Given the description of an element on the screen output the (x, y) to click on. 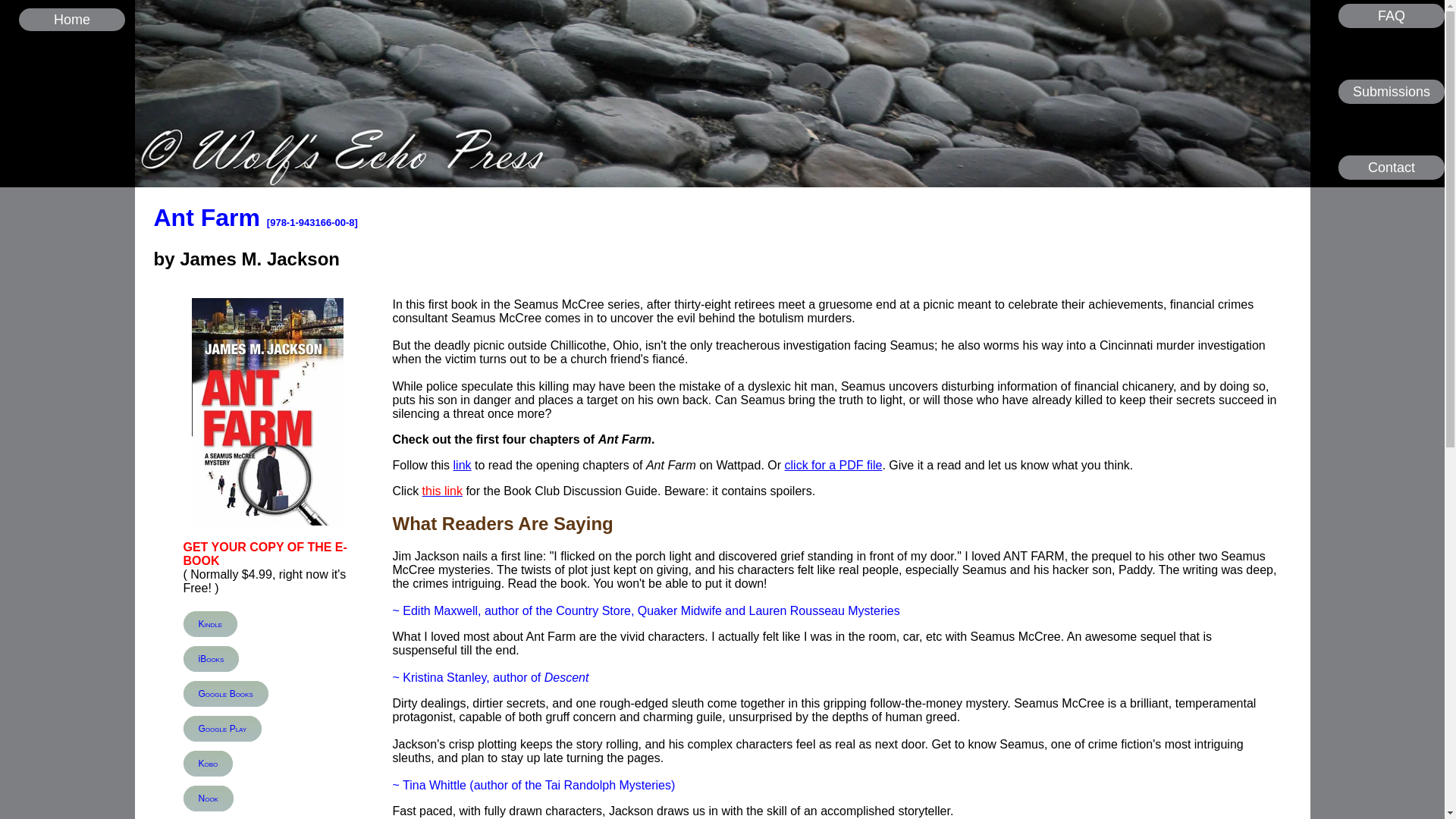
this link (442, 490)
iBooks (211, 658)
Google Play (222, 728)
Google Books (225, 693)
Nook (207, 798)
Kobo (207, 763)
Kindle (210, 623)
click for a PDF file (833, 464)
Home (71, 19)
link (461, 464)
